Given the description of an element on the screen output the (x, y) to click on. 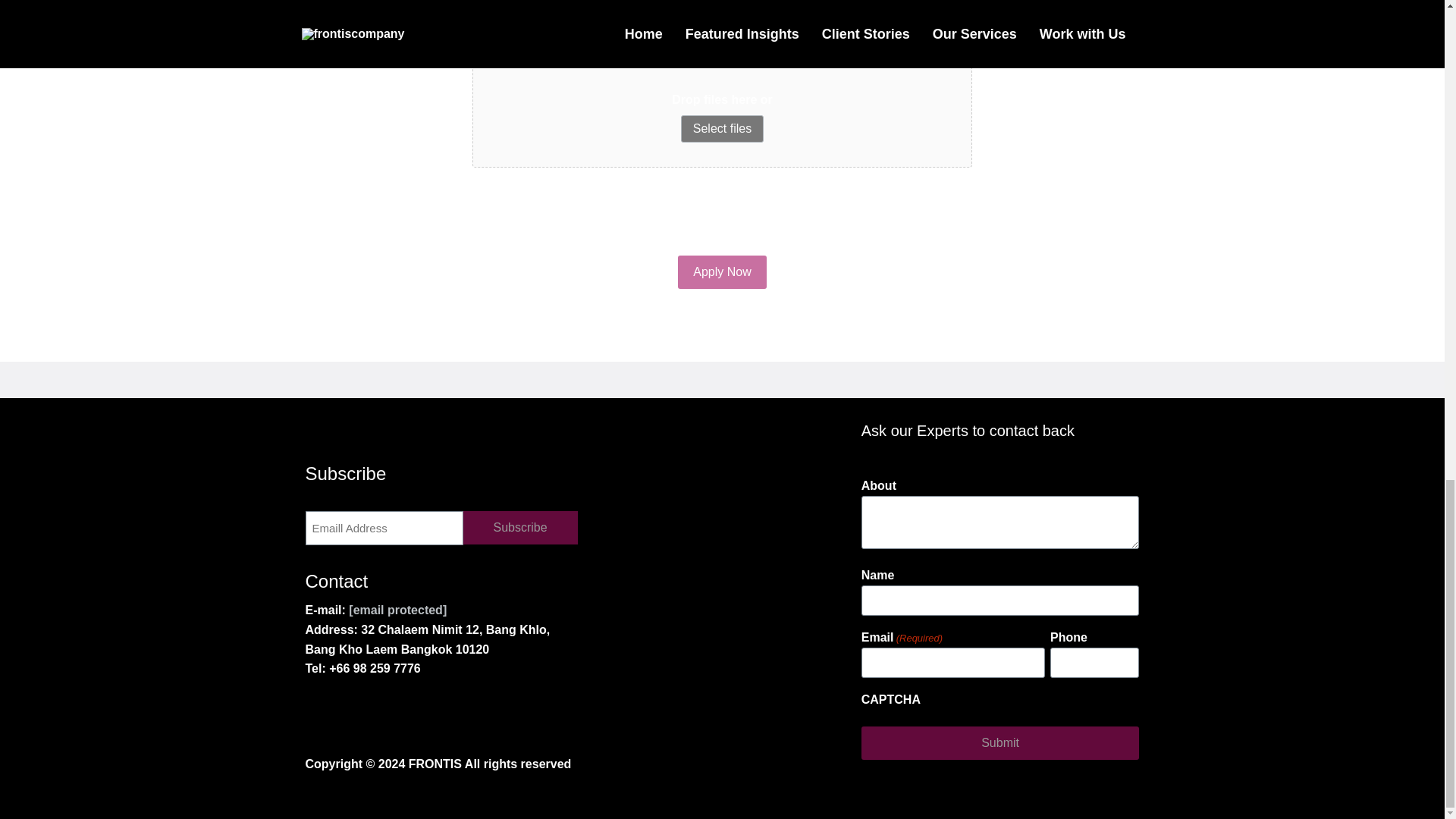
Select files (721, 128)
Apply Now (721, 272)
April 11, 2024 (362, 681)
FRONTIS x CPF : CEO Townhall 2024 (1006, 630)
April 1, 2024 (647, 700)
Subscribe (519, 527)
Permalink to Microsoft Partner of The Year 2023 (434, 527)
Apply Now (721, 272)
Subscribe (519, 527)
Microsoft Partner of The Year 2023 (421, 630)
